Given the description of an element on the screen output the (x, y) to click on. 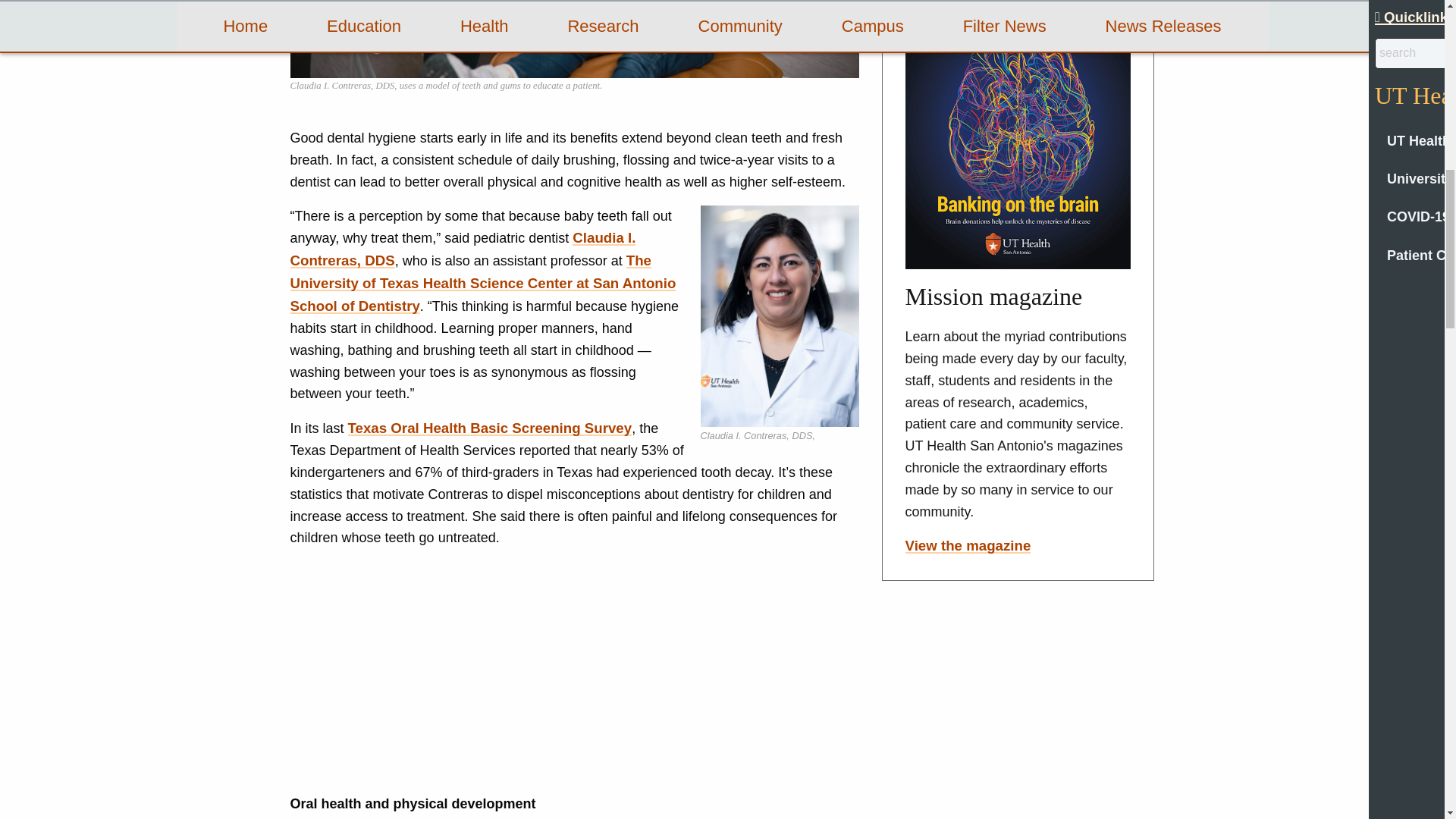
Claudia I. Contreras, DDS (461, 249)
Texas Oral Health Basic Screening Survey (489, 427)
